Given the description of an element on the screen output the (x, y) to click on. 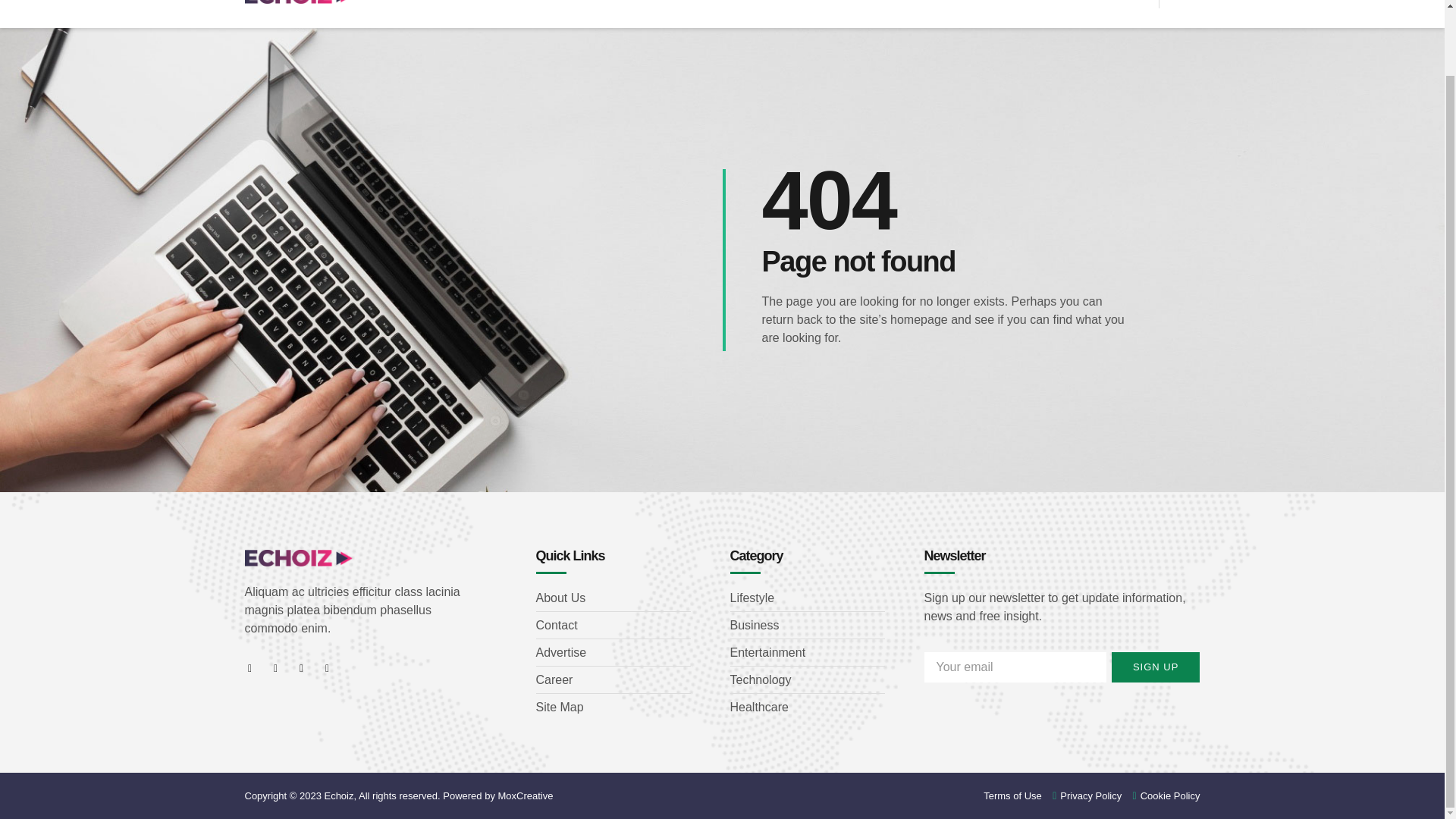
Lifestyle (806, 597)
Site Map (612, 707)
Contact (612, 625)
Entertainment (806, 652)
About Us (612, 597)
Privacy Policy (1082, 795)
BUSINESS IDEAS (592, 4)
Technology (806, 679)
START UP LOANS (715, 4)
Business (806, 625)
